Given the description of an element on the screen output the (x, y) to click on. 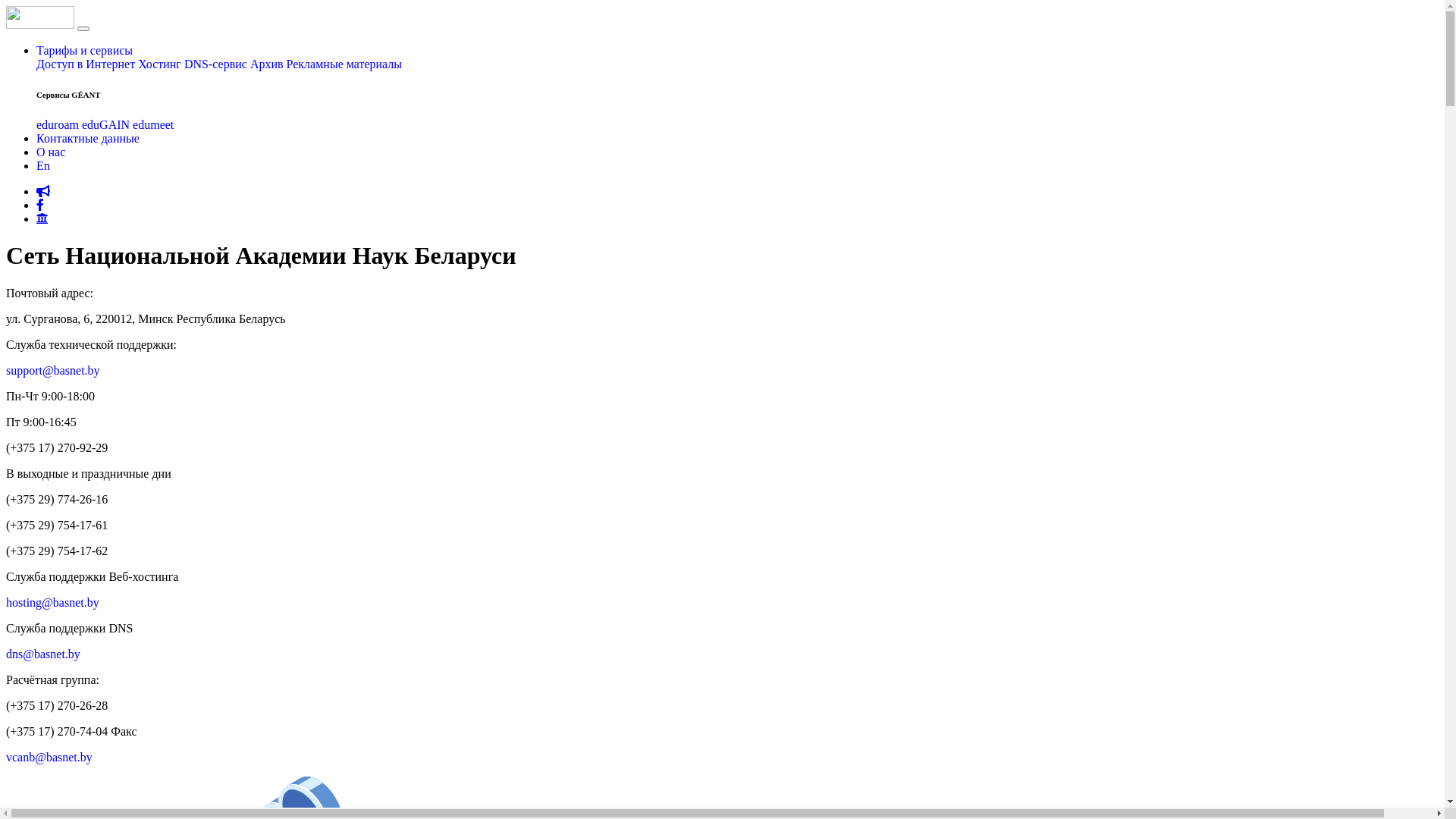
vcanb@basnet.by Element type: text (49, 756)
eduGAIN Element type: text (105, 124)
support@basnet.by Element type: text (53, 370)
dns@basnet.by Element type: text (43, 653)
hosting@basnet.by Element type: text (52, 602)
eduroam Element type: text (57, 124)
En Element type: text (43, 165)
edumeet Element type: text (152, 124)
